Given the description of an element on the screen output the (x, y) to click on. 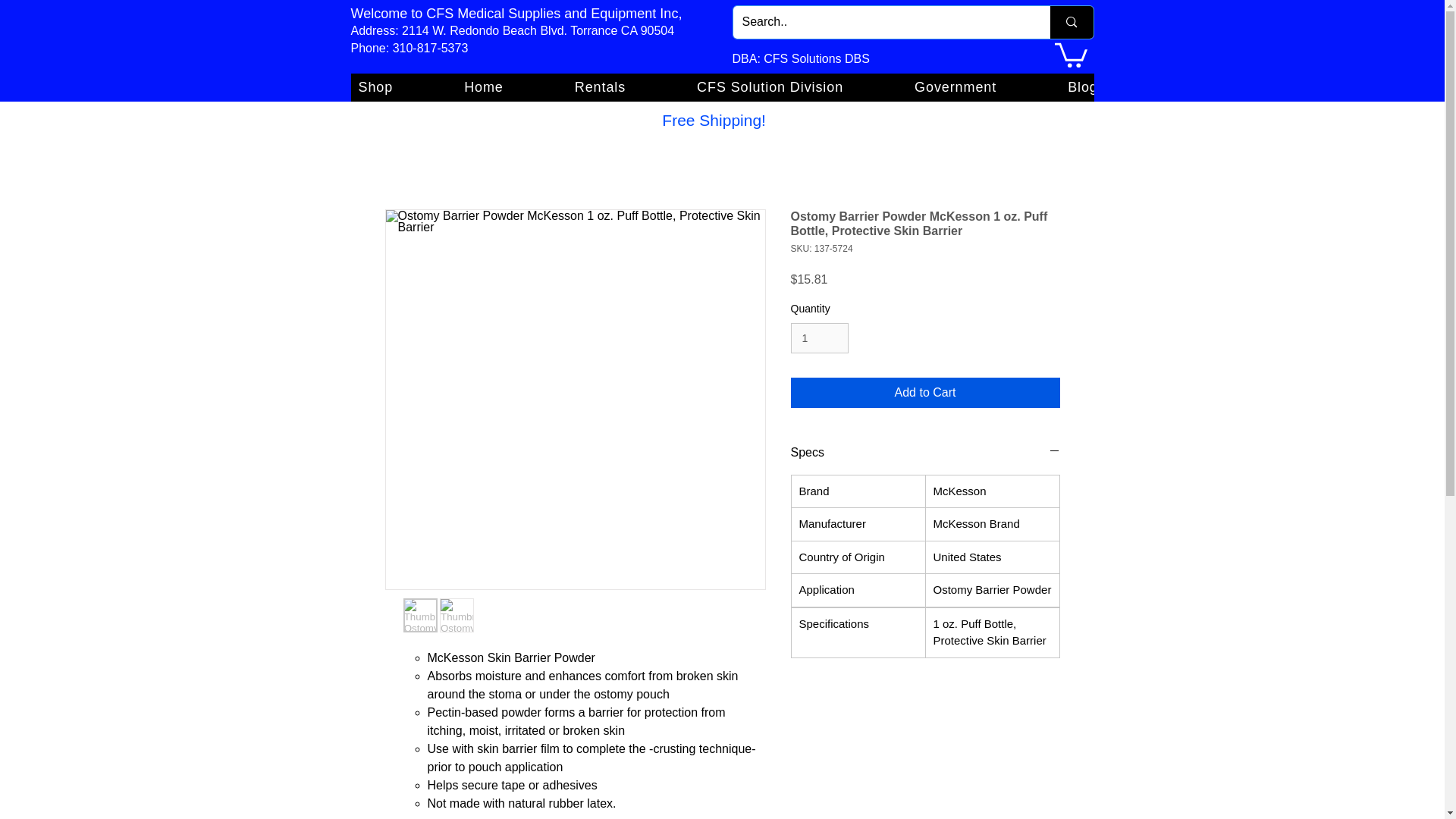
Home (484, 87)
Hospital Beds (1364, 87)
Rentals (600, 87)
Respiratory (1207, 87)
Specs (924, 452)
Shop (375, 87)
Government (955, 87)
CFS Solution Division (769, 87)
Blog (1082, 87)
1 (818, 337)
